Given the description of an element on the screen output the (x, y) to click on. 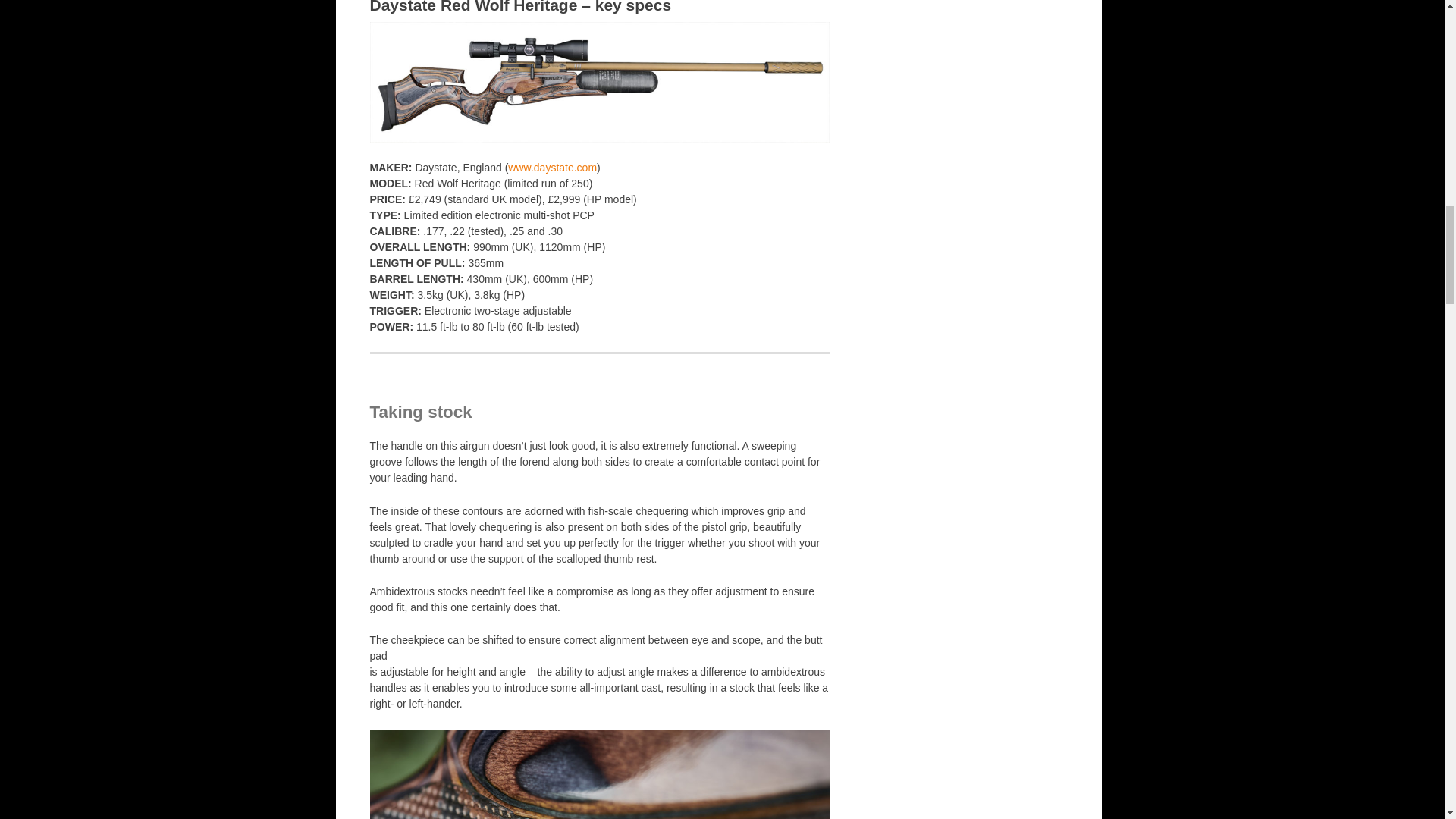
www.daystate.com (552, 167)
